Given the description of an element on the screen output the (x, y) to click on. 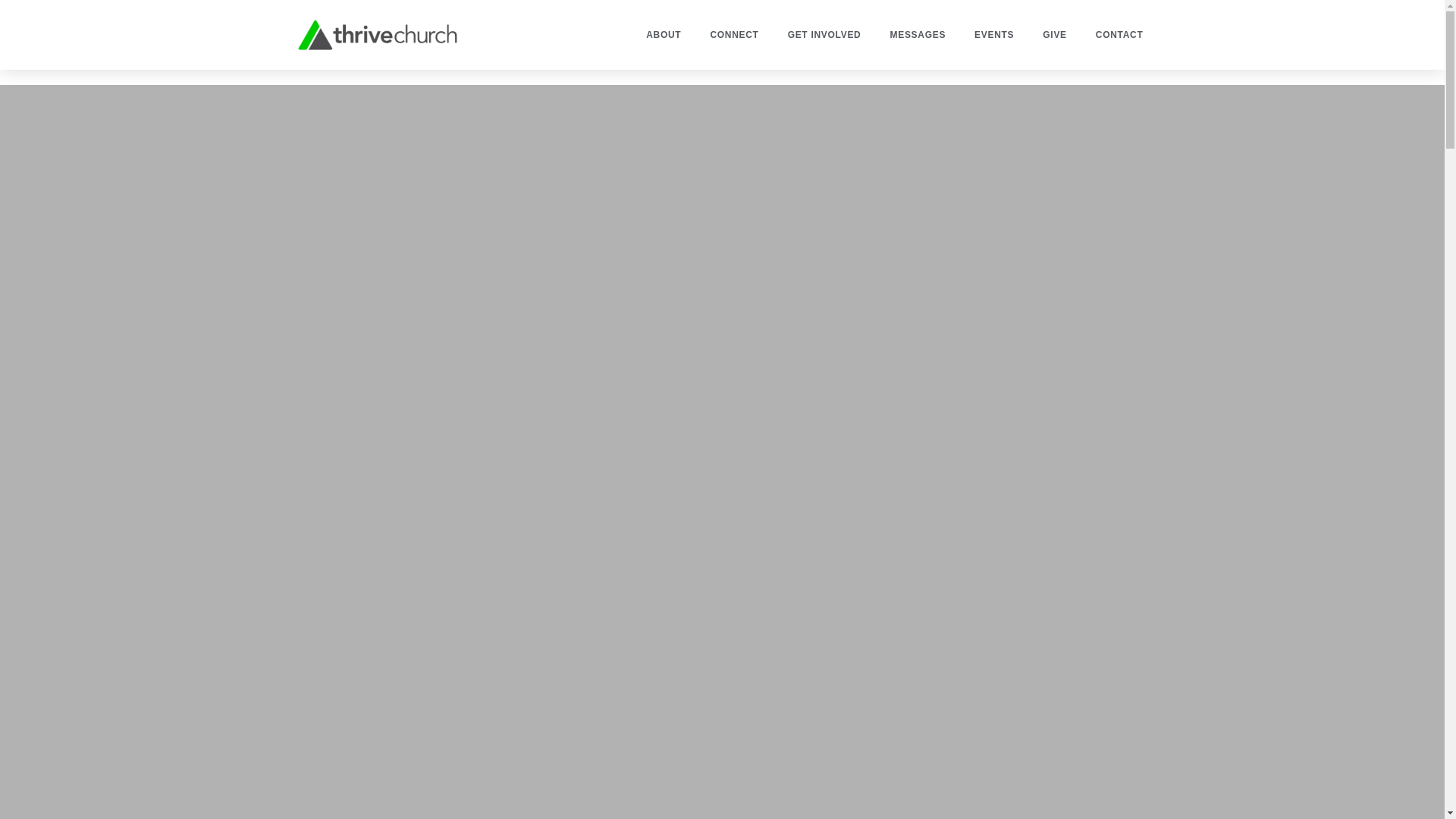
MESSAGES (916, 34)
EVENTS (993, 34)
CONNECT (734, 34)
GET INVOLVED (824, 34)
CONTACT (1119, 34)
